Given the description of an element on the screen output the (x, y) to click on. 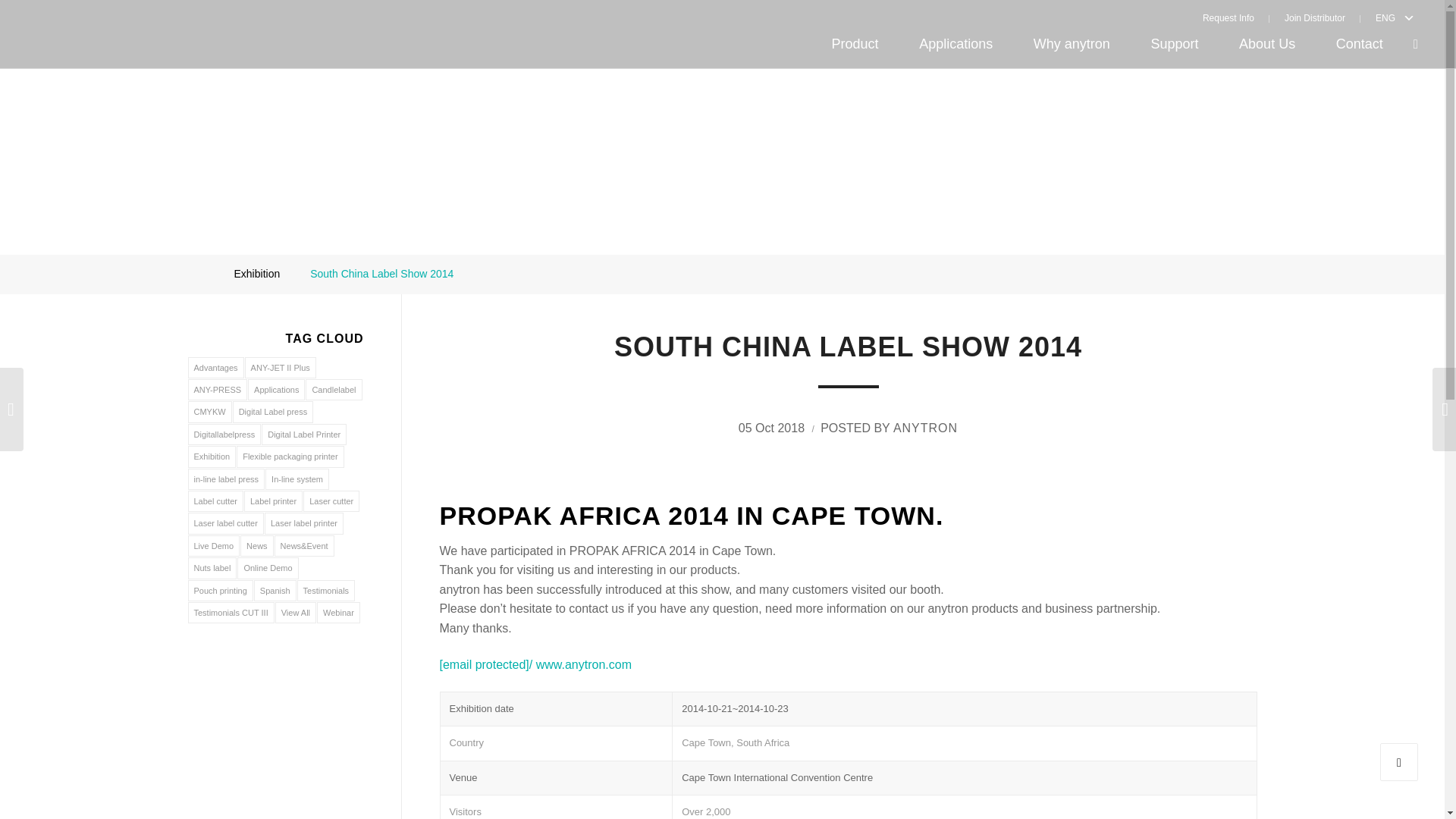
ENG (1381, 17)
Product (855, 44)
Scroll to top (1399, 761)
Request Info (1235, 17)
Applications (955, 44)
Anytron - Digital Print Pro (196, 274)
Join Distributor (1314, 17)
